Given the description of an element on the screen output the (x, y) to click on. 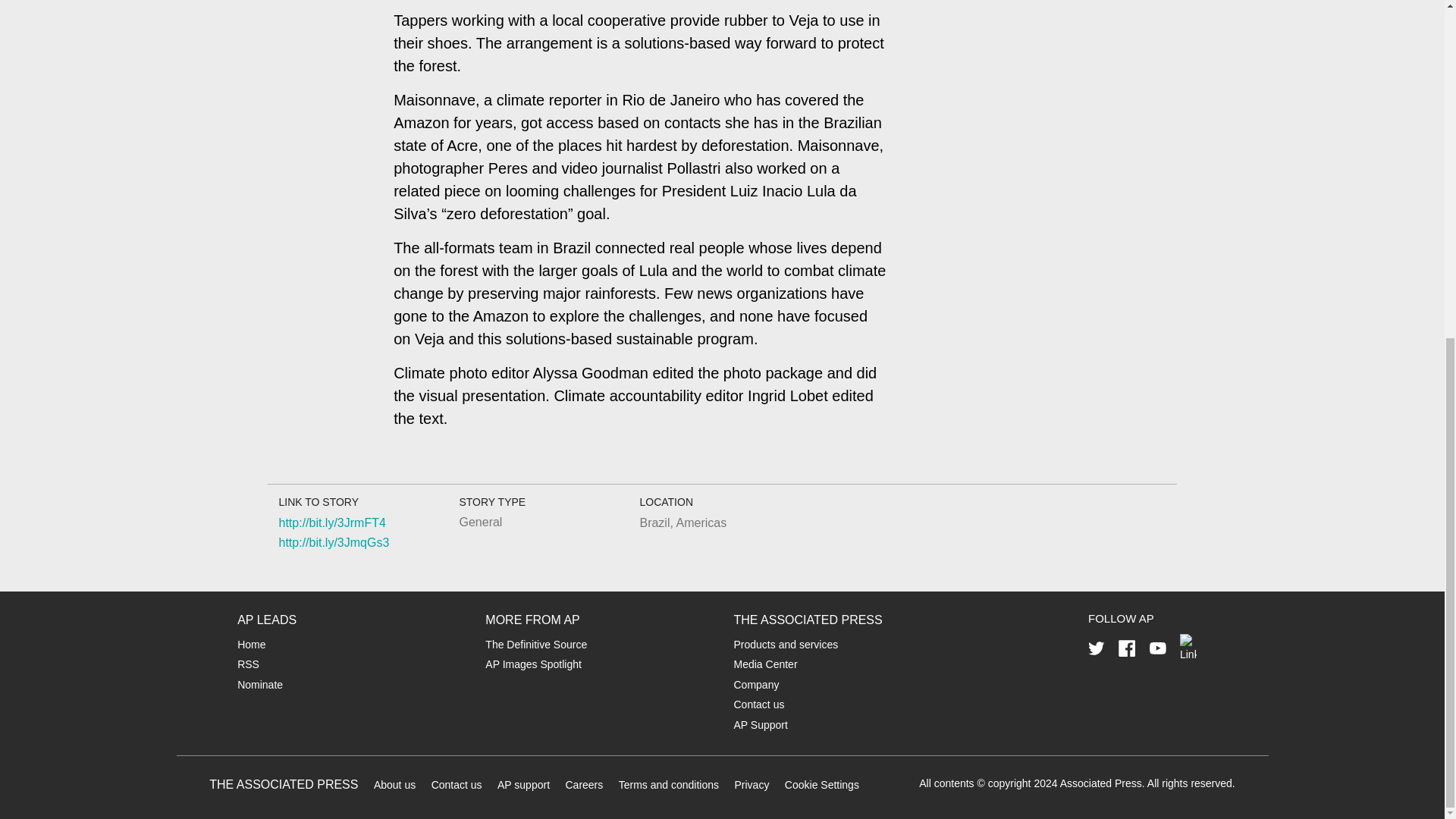
Careers (583, 784)
Products and services (785, 644)
RSS (248, 664)
AP support (523, 784)
Contact us (758, 704)
Company (755, 684)
AP Support (760, 725)
Nominate (259, 684)
Media Center (765, 664)
Home (250, 644)
